Given the description of an element on the screen output the (x, y) to click on. 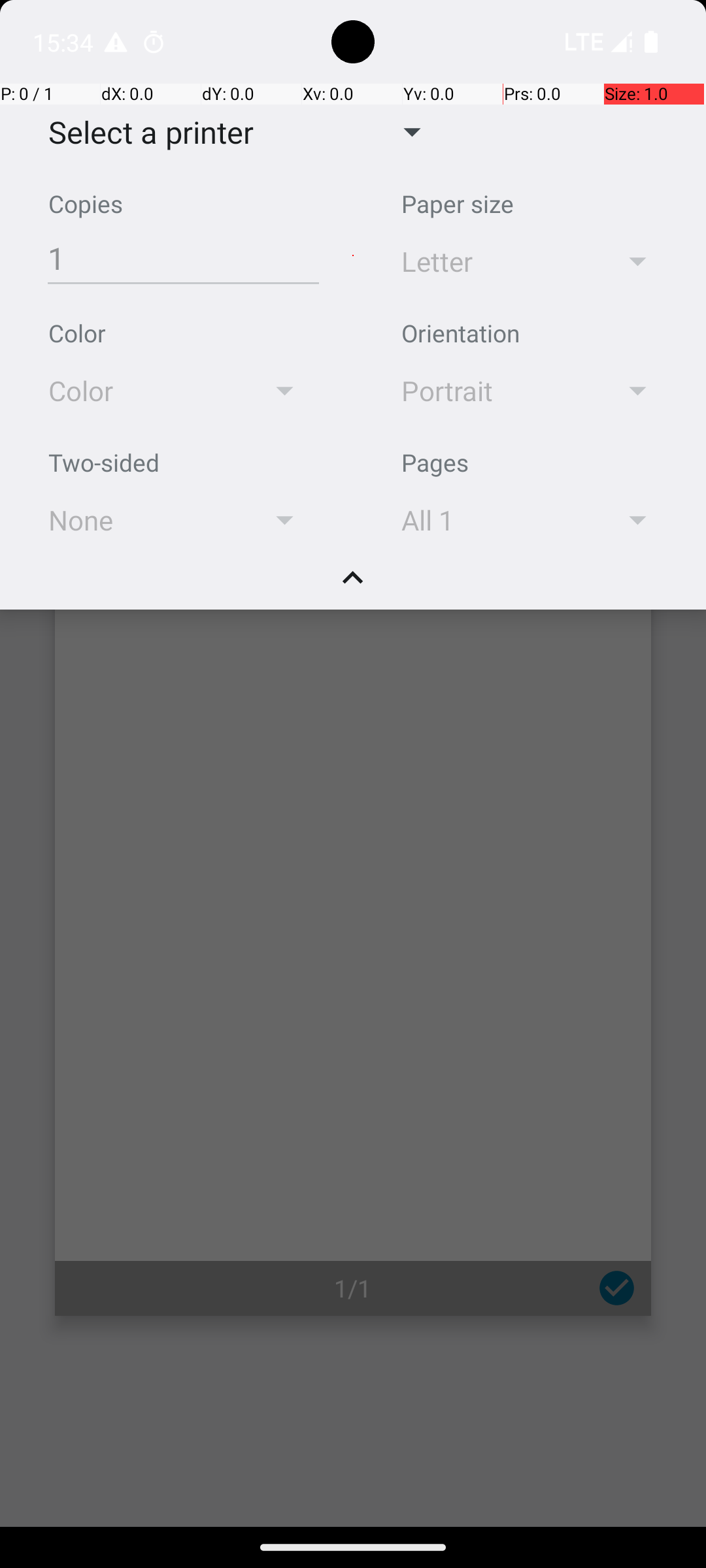
Copies Element type: android.widget.TextView (85, 203)
Paper size Element type: android.widget.TextView (457, 203)
Orientation Element type: android.widget.TextView (460, 332)
Two-sided Element type: android.widget.TextView (103, 461)
Pages Element type: android.widget.TextView (434, 461)
Collapse handle Element type: android.widget.FrameLayout (353, 585)
Select a printer Element type: android.widget.TextView (140, 131)
Portrait Element type: android.widget.CheckedTextView (491, 390)
All 1 Element type: android.widget.CheckedTextView (491, 519)
